Given the description of an element on the screen output the (x, y) to click on. 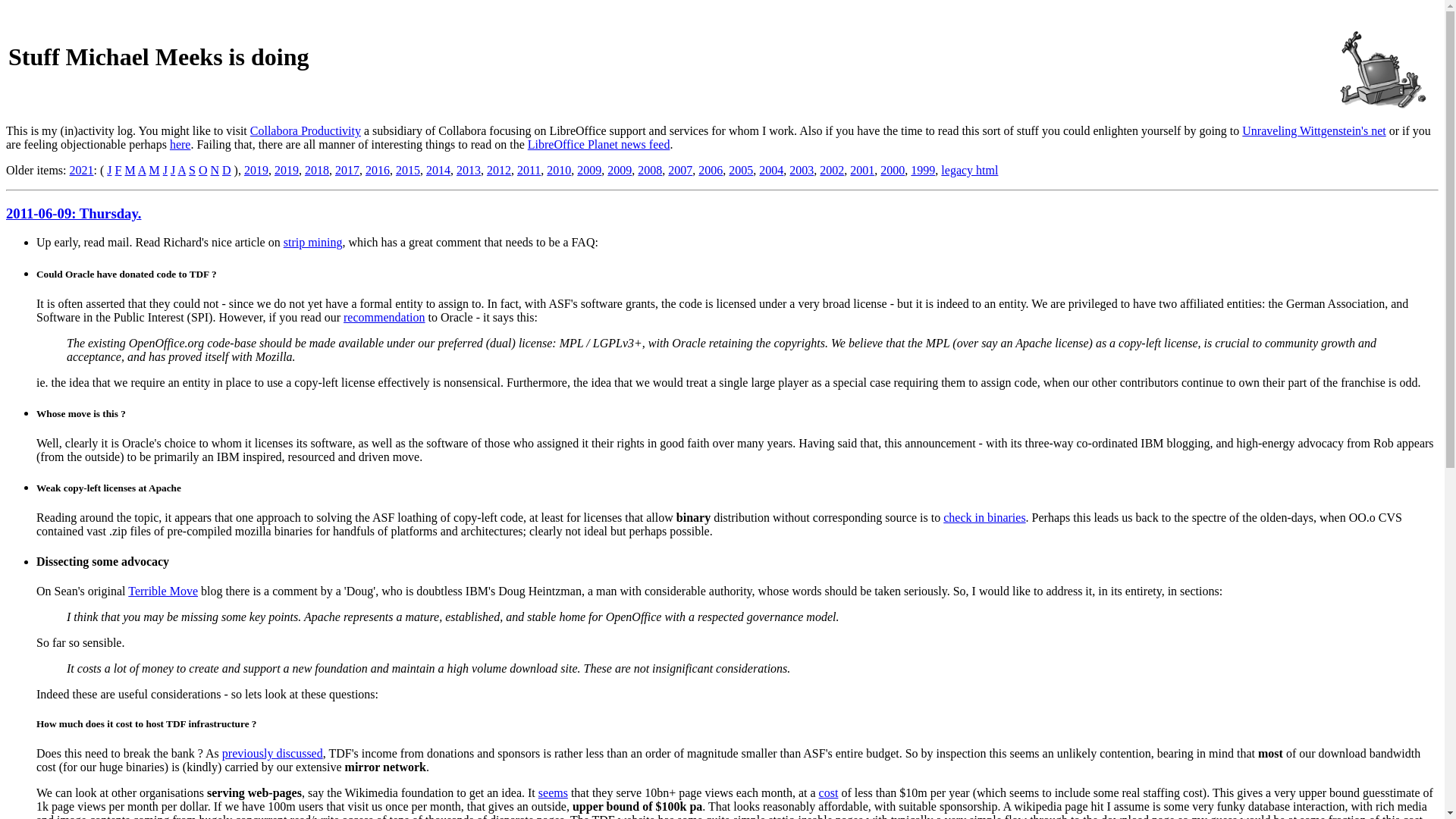
2001 (862, 169)
2019 (286, 169)
2017 (346, 169)
2015 (408, 169)
2003 (801, 169)
here (180, 144)
2000 (892, 169)
2007 (680, 169)
Collabora Productivity (305, 130)
2011 (528, 169)
